Given the description of an element on the screen output the (x, y) to click on. 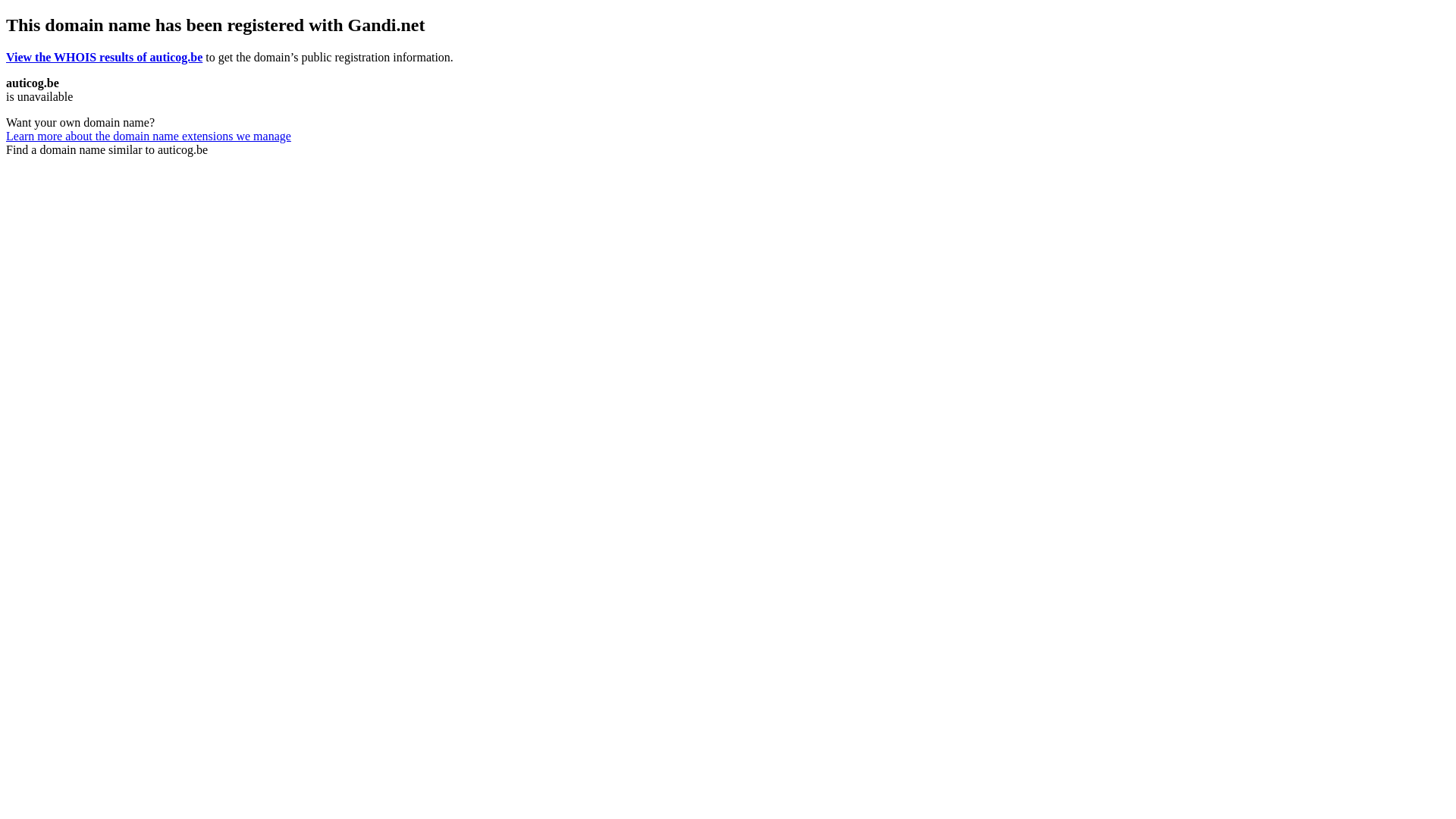
Find a domain name similar to auticog.be Element type: text (106, 149)
Learn more about the domain name extensions we manage Element type: text (148, 135)
View the WHOIS results of auticog.be Element type: text (104, 56)
